Given the description of an element on the screen output the (x, y) to click on. 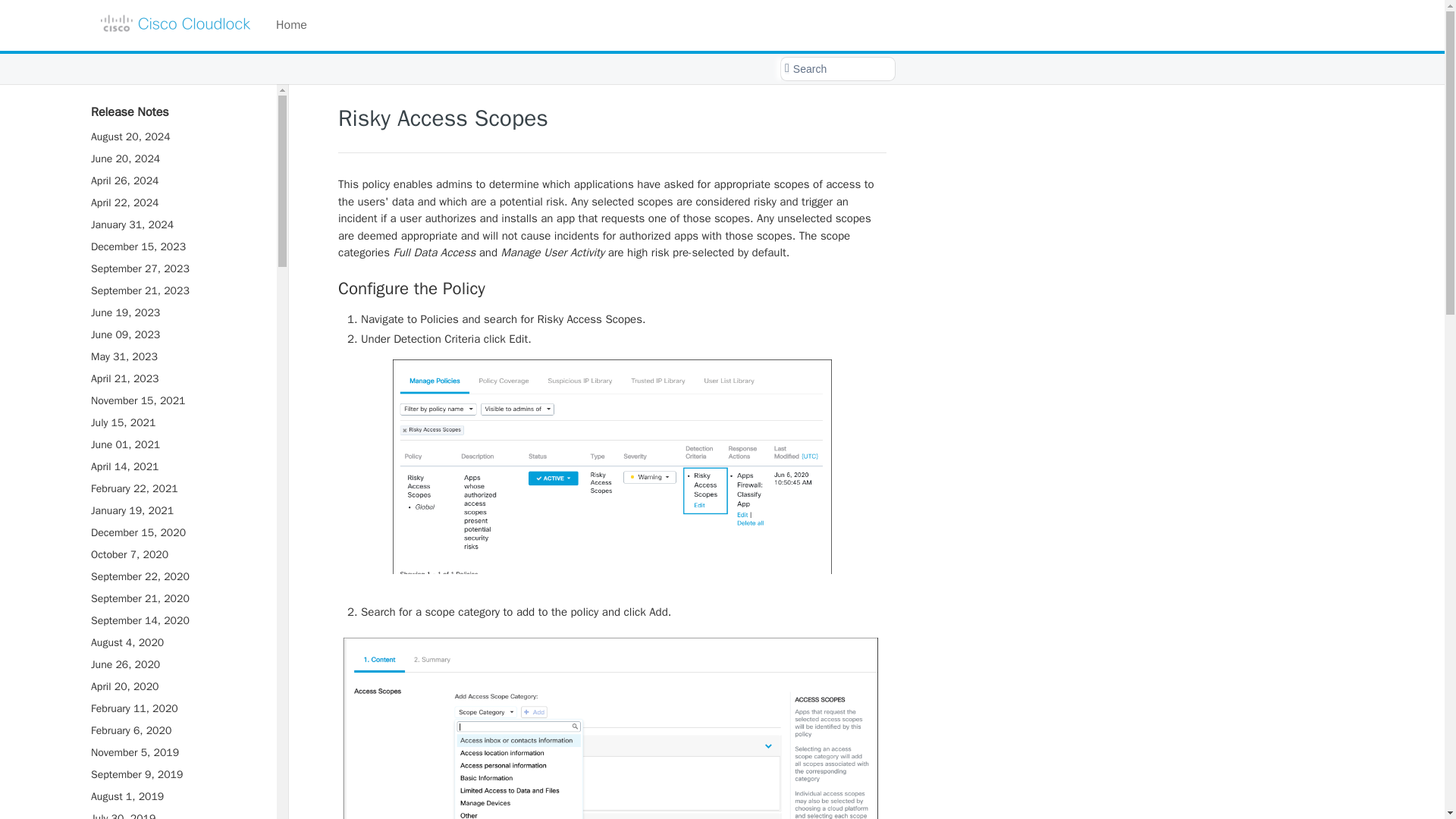
June 26, 2020 (176, 664)
April 14, 2021 (176, 466)
December 15, 2023 (176, 246)
AFW 3.png (611, 725)
February 11, 2020 (176, 708)
September 21, 2020 (176, 598)
February 6, 2020 (176, 730)
August 4, 2020 (176, 642)
September 14, 2020 (176, 620)
Configure the Policy (611, 288)
